Given the description of an element on the screen output the (x, y) to click on. 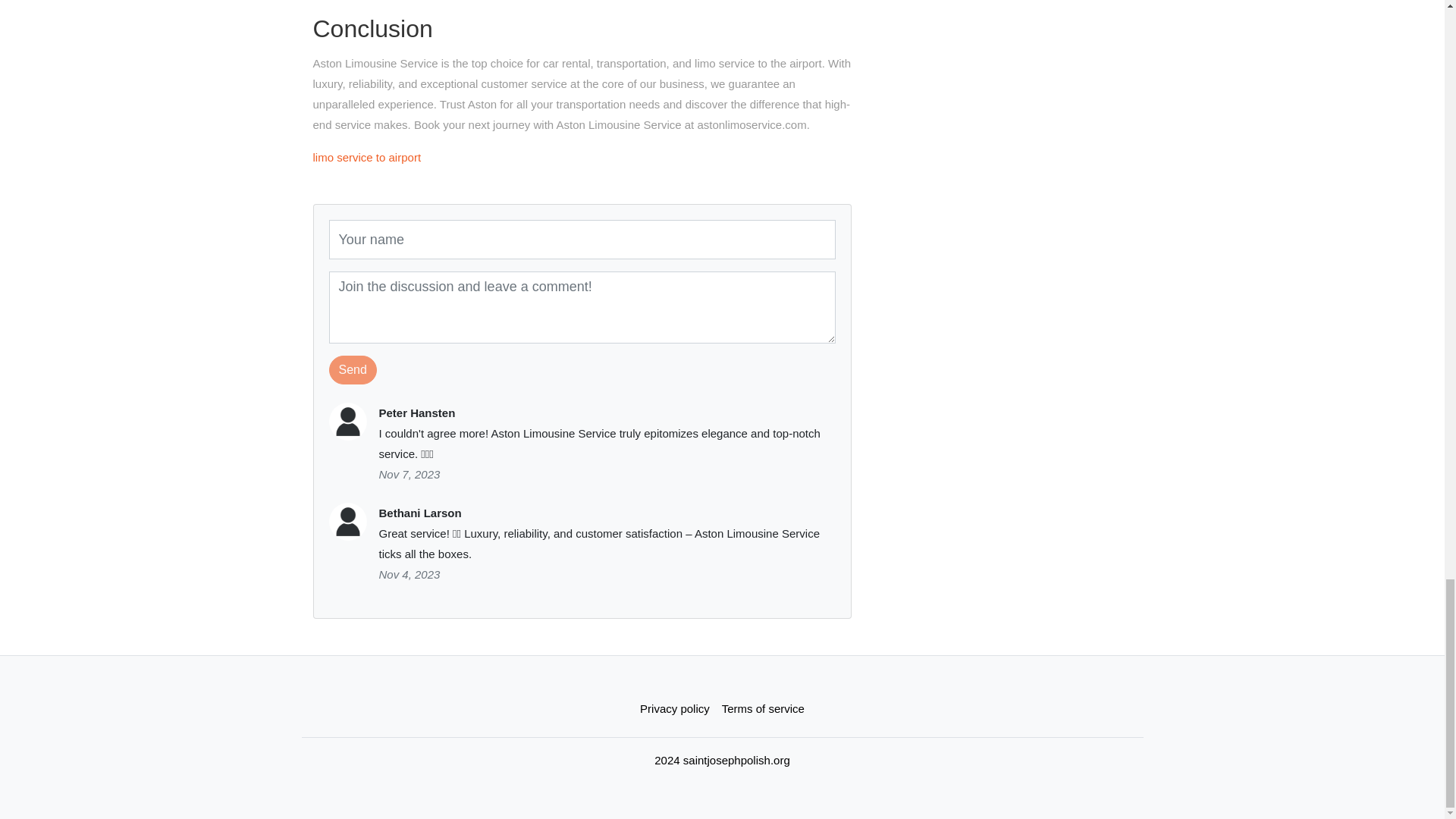
Privacy policy (674, 708)
Terms of service (763, 708)
Send (353, 369)
Send (353, 369)
limo service to airport (366, 156)
